Given the description of an element on the screen output the (x, y) to click on. 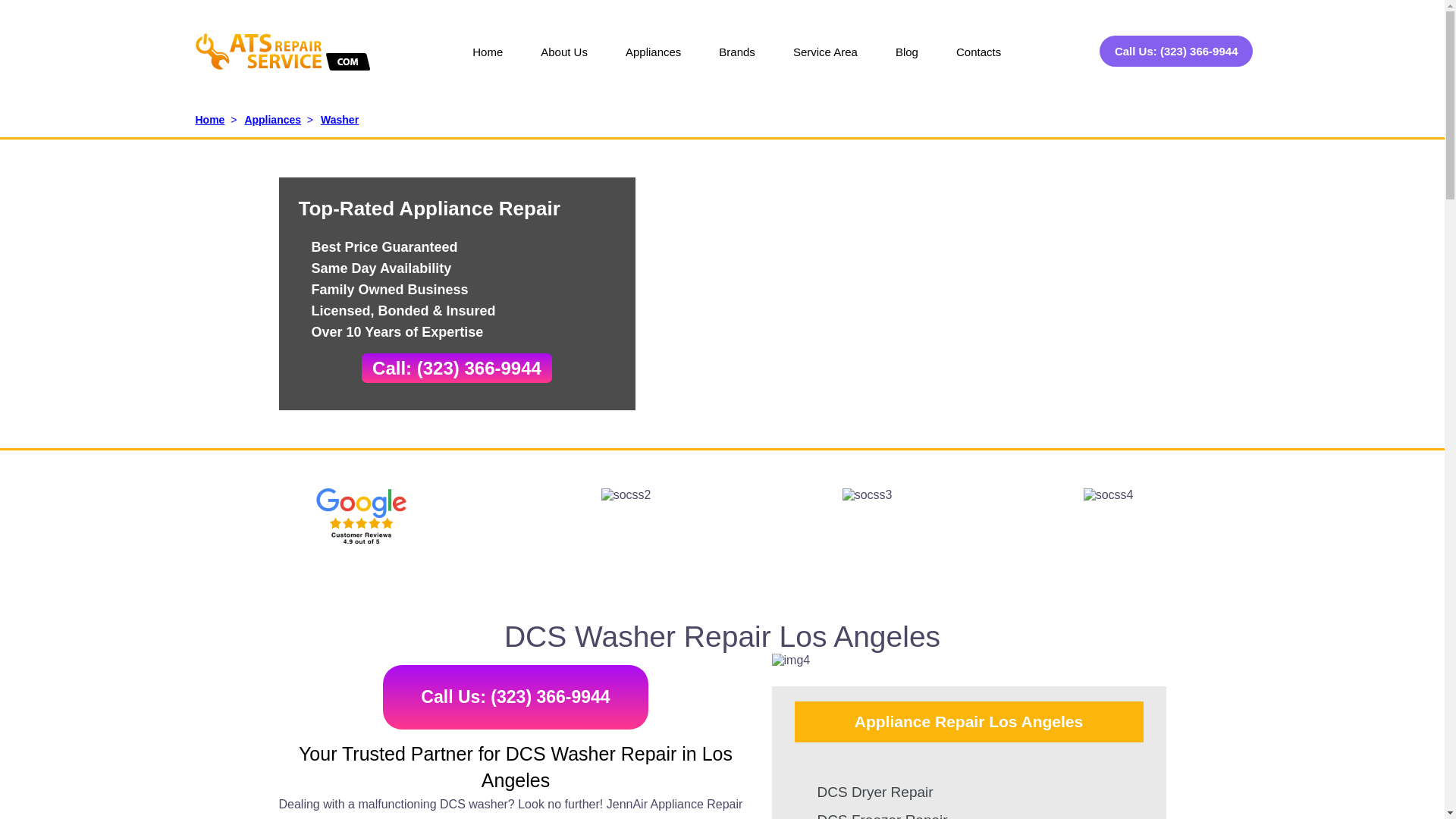
Home (486, 62)
Appliances (653, 62)
About Us (564, 62)
Brands (737, 62)
